Given the description of an element on the screen output the (x, y) to click on. 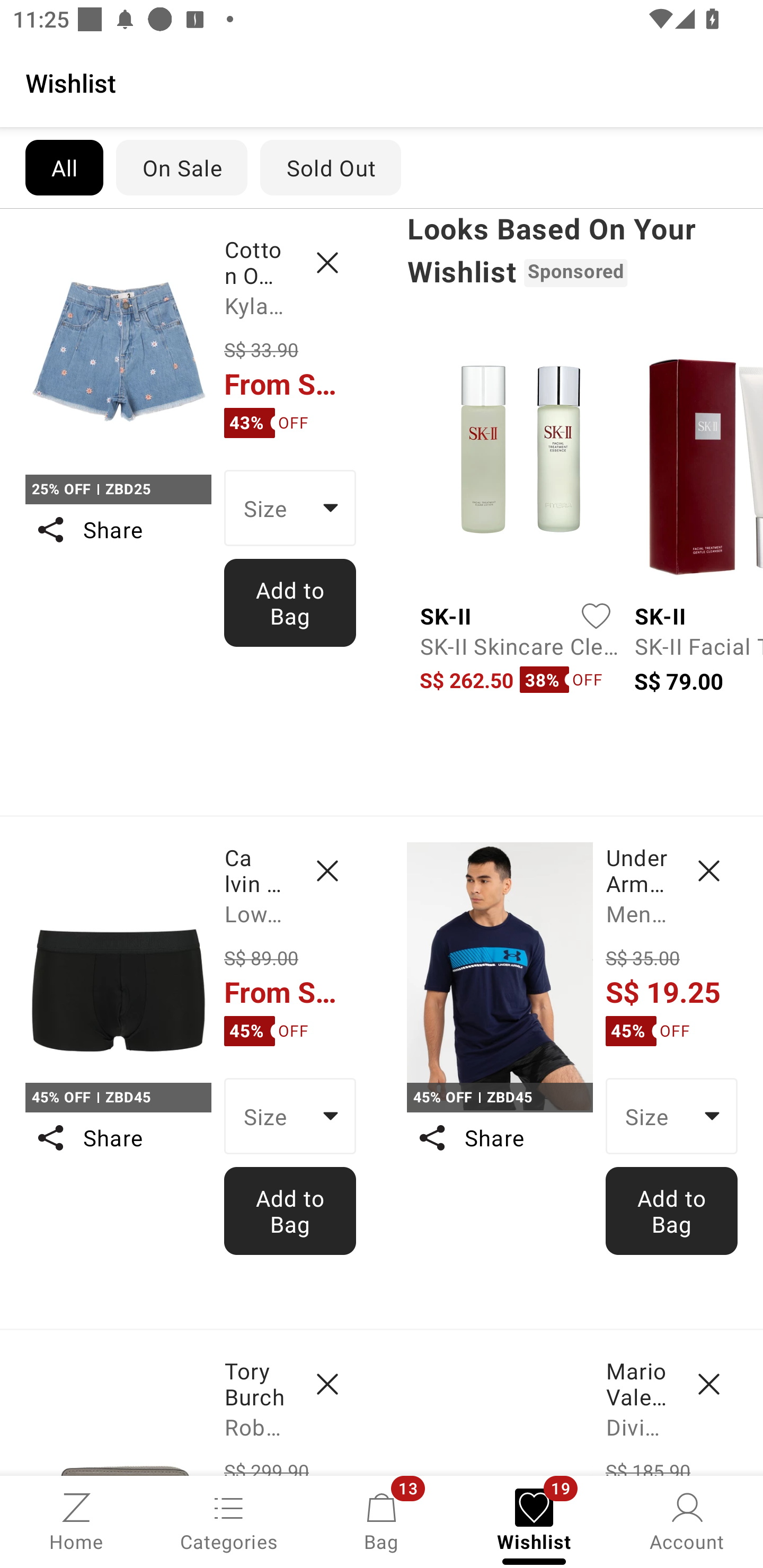
Wishlist (381, 82)
All (64, 167)
On Sale (181, 167)
Sold Out (330, 167)
Size (290, 507)
Share (118, 529)
Add to Bag (290, 602)
Size (290, 1116)
Size (671, 1116)
Share (118, 1137)
Share (499, 1137)
Add to Bag (290, 1210)
Add to Bag (671, 1210)
Home (76, 1519)
Categories (228, 1519)
Bag, 13 new notifications Bag (381, 1519)
Account (686, 1519)
